Given the description of an element on the screen output the (x, y) to click on. 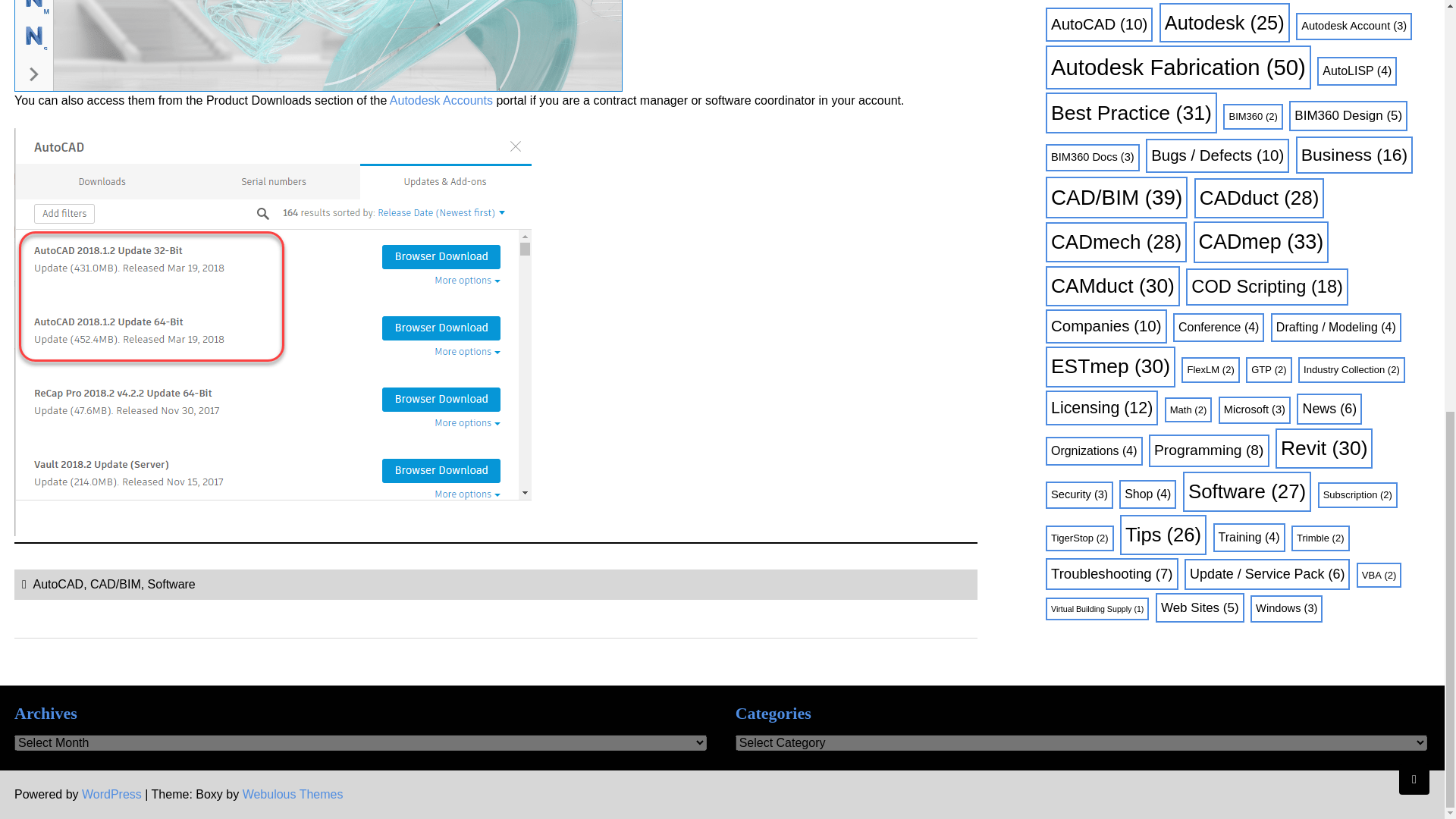
Software (171, 584)
AutoCAD (57, 584)
Autodesk Accounts (441, 100)
